Given the description of an element on the screen output the (x, y) to click on. 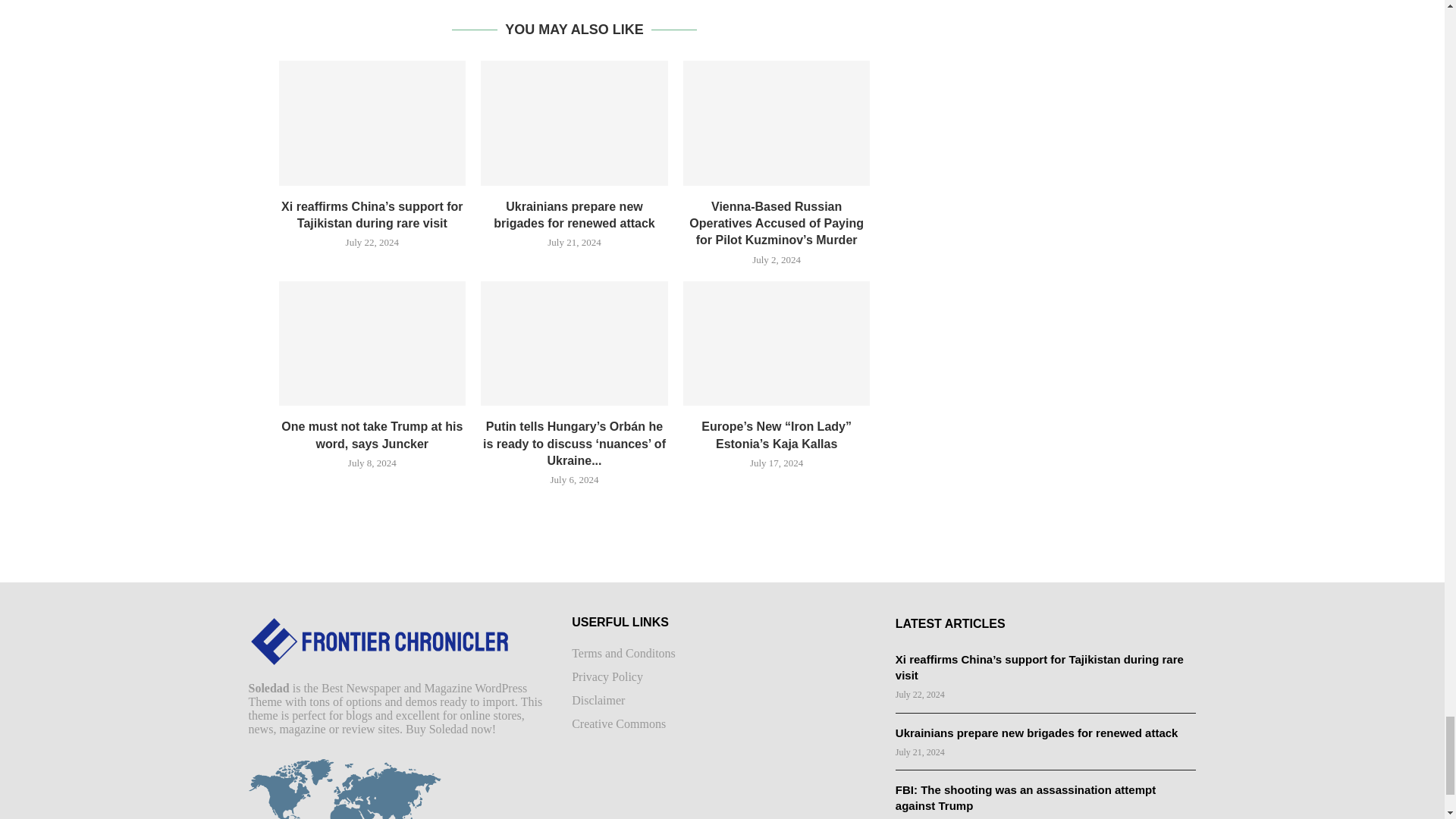
One must not take Trump at his word, says Juncker (372, 343)
Ukrainians prepare new brigades for renewed attack (574, 122)
